Given the description of an element on the screen output the (x, y) to click on. 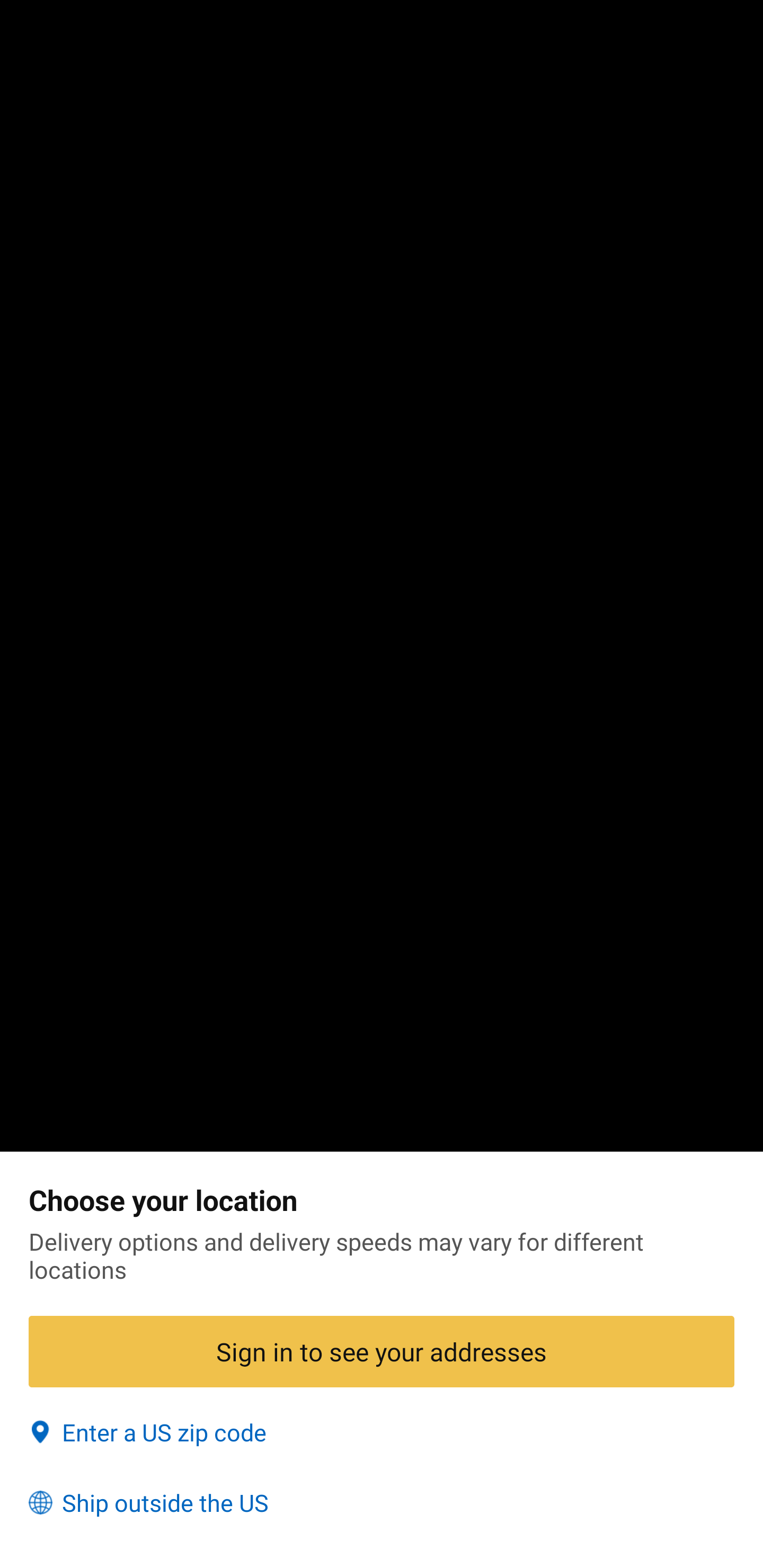
Sign in to see your addresses (381, 1351)
Enter a US zip code (381, 1432)
Ship outside the US (381, 1502)
